Given the description of an element on the screen output the (x, y) to click on. 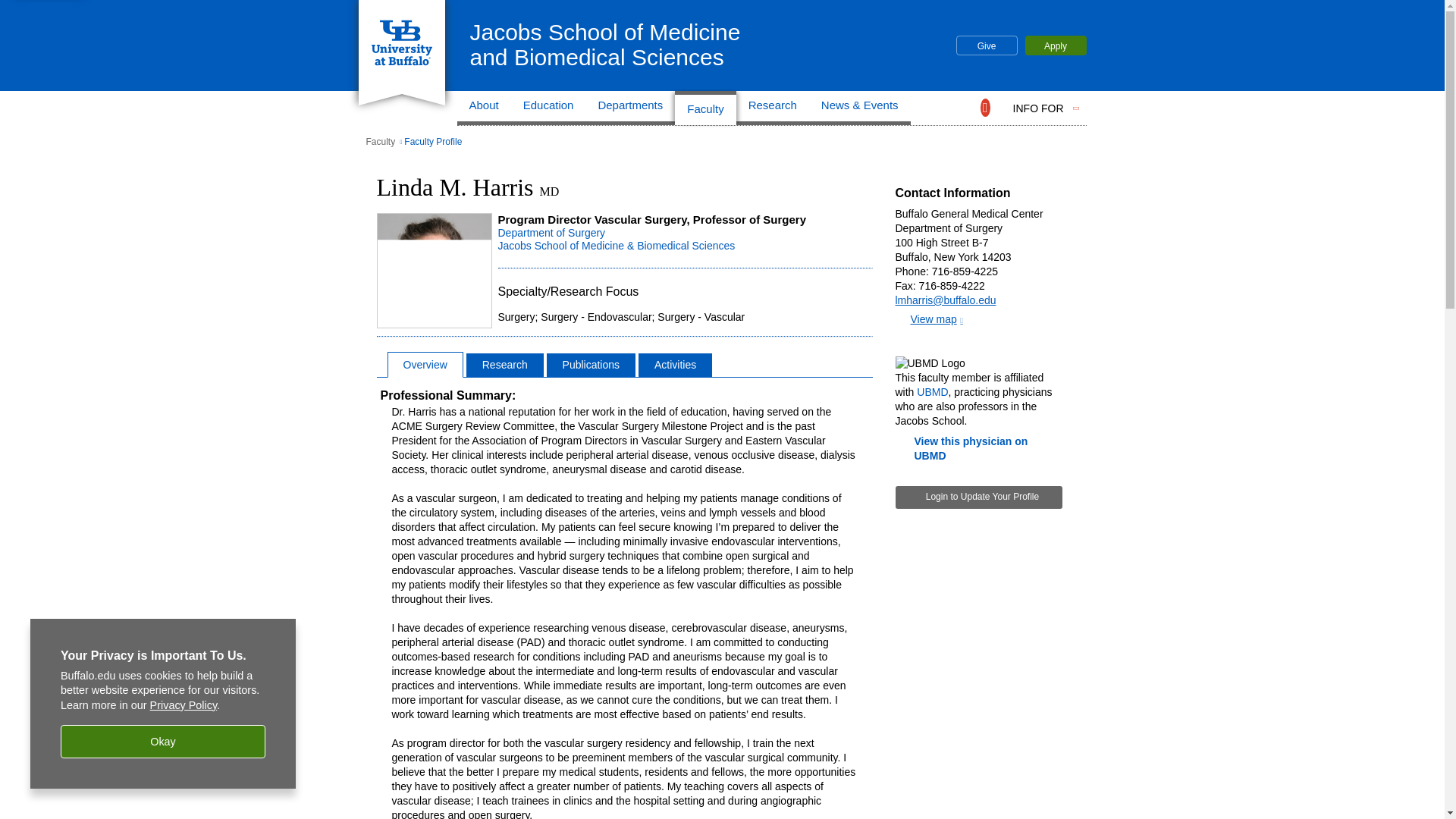
Department of Surgery (551, 232)
About (484, 107)
Departments (605, 44)
Apply (630, 107)
Research (1055, 45)
Faculty (772, 107)
Research (705, 107)
Give (504, 364)
Publications (985, 45)
